Given the description of an element on the screen output the (x, y) to click on. 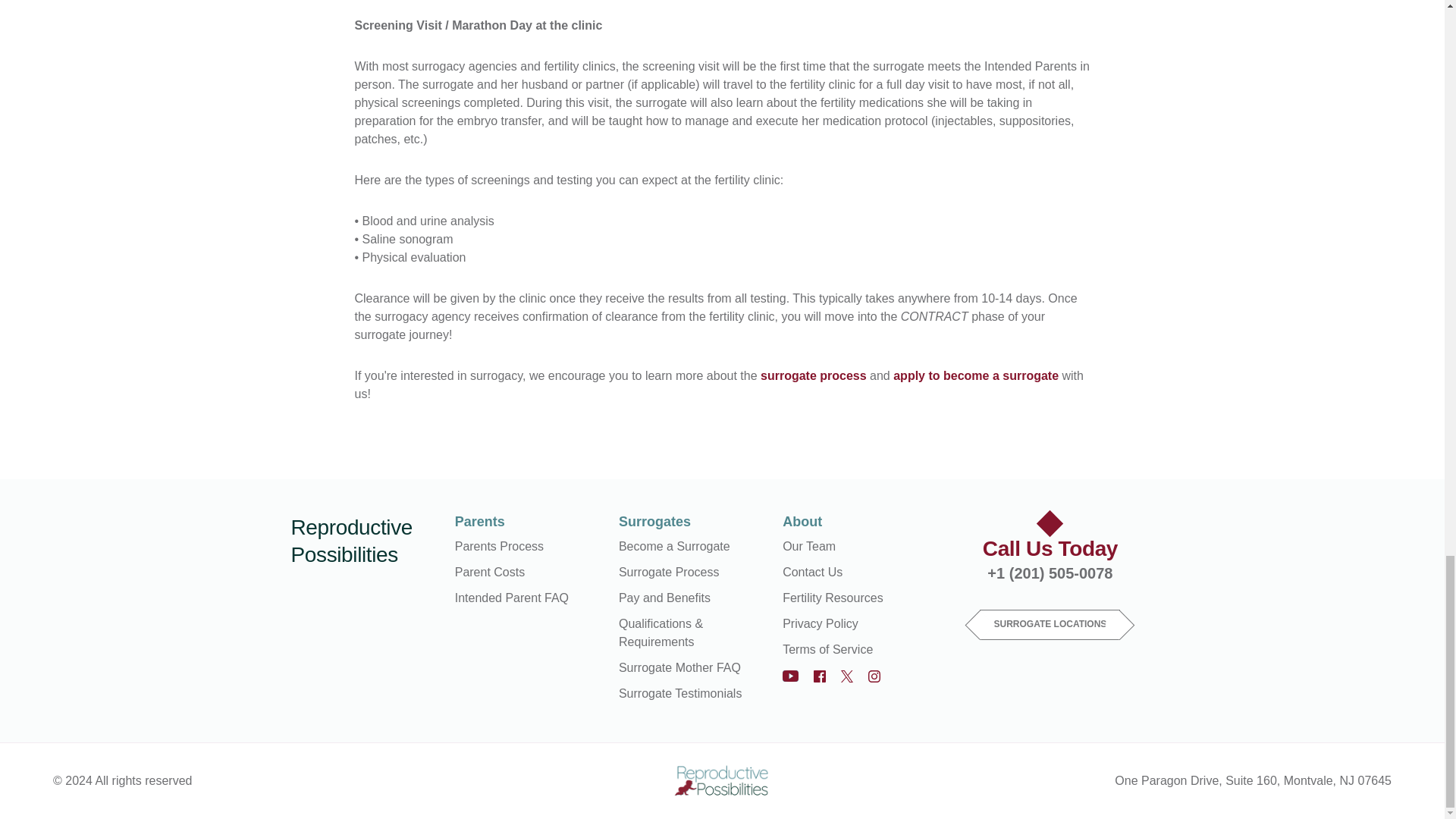
Reproductive Possibilities (365, 541)
apply to become a surrogate (975, 375)
surrogate process (813, 375)
